Given the description of an element on the screen output the (x, y) to click on. 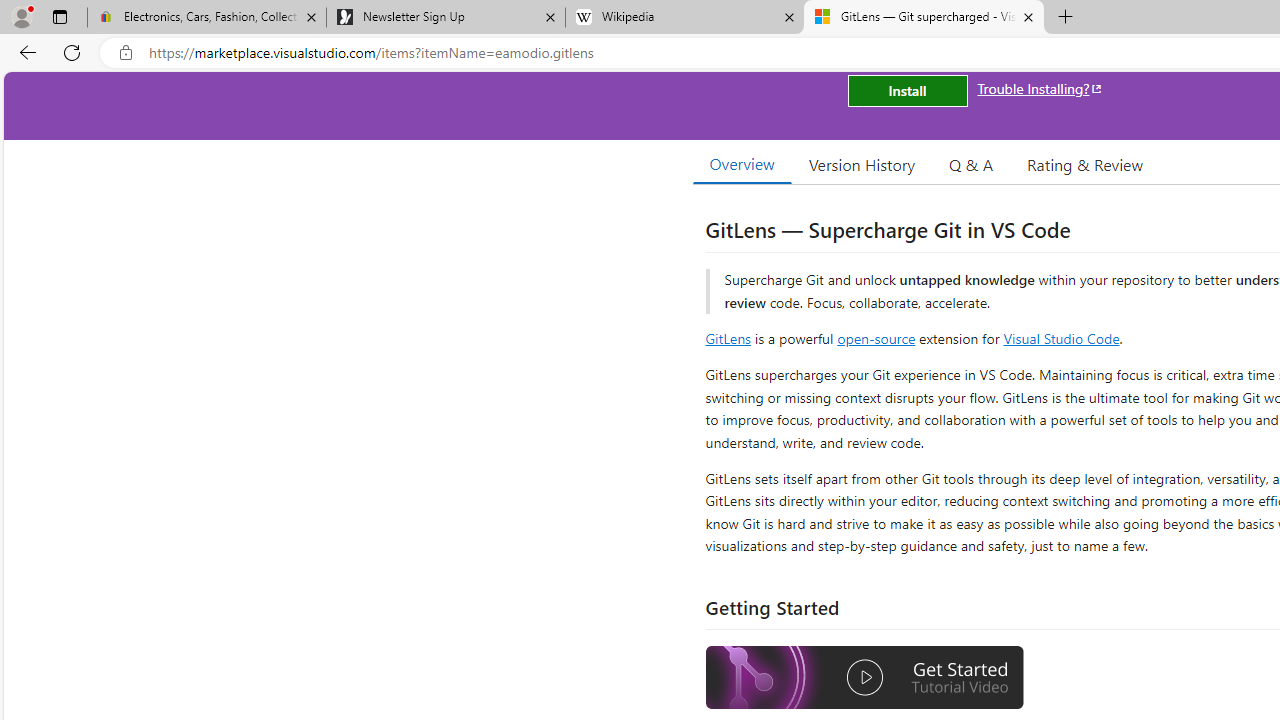
Install (907, 90)
Newsletter Sign Up (445, 17)
Version History (862, 164)
Q & A (971, 164)
open-source (876, 337)
Watch the GitLens Getting Started video (865, 679)
Rating & Review (1084, 164)
